Given the description of an element on the screen output the (x, y) to click on. 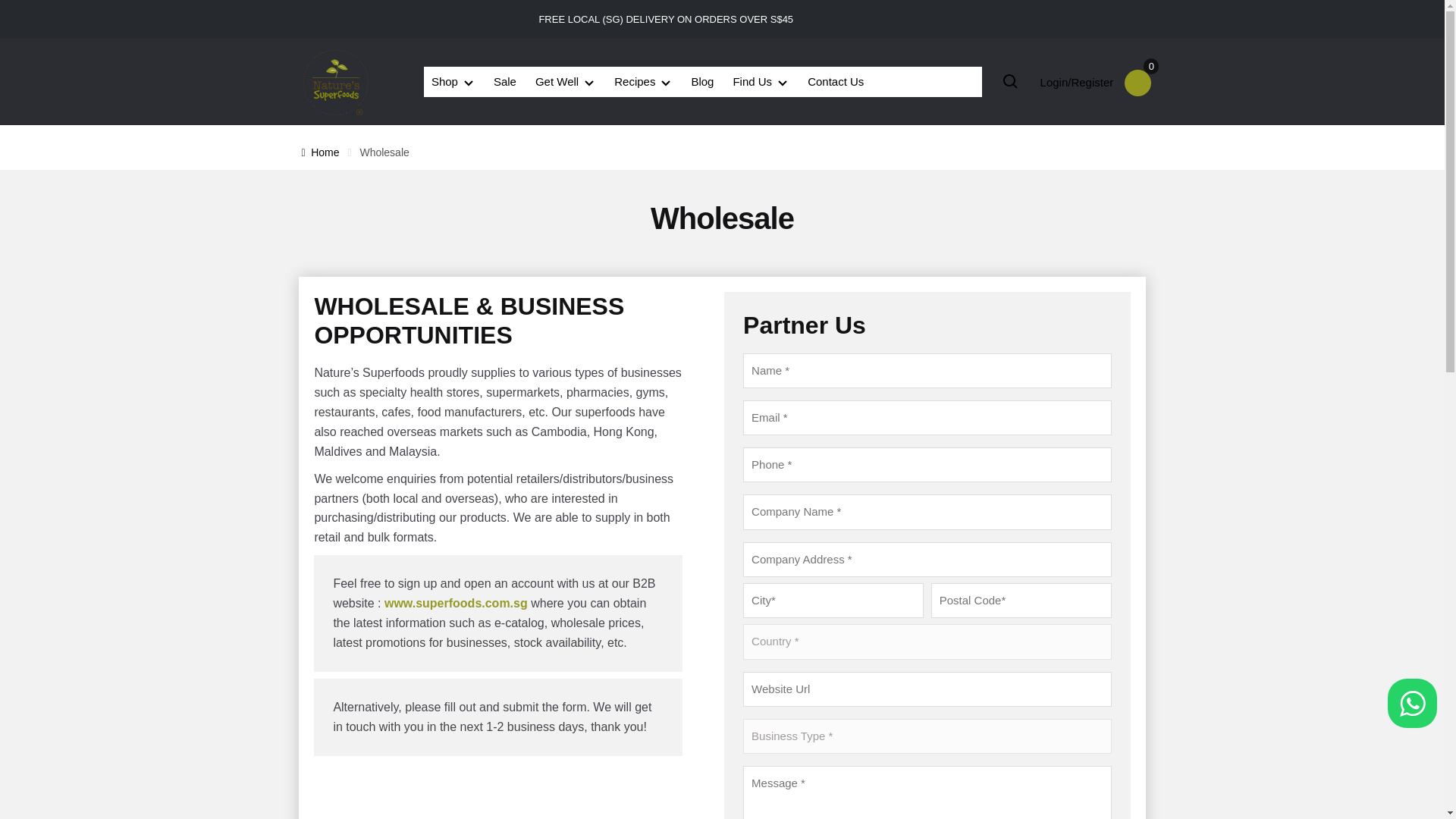
Shop (452, 81)
View your shopping cart (1137, 82)
